Given the description of an element on the screen output the (x, y) to click on. 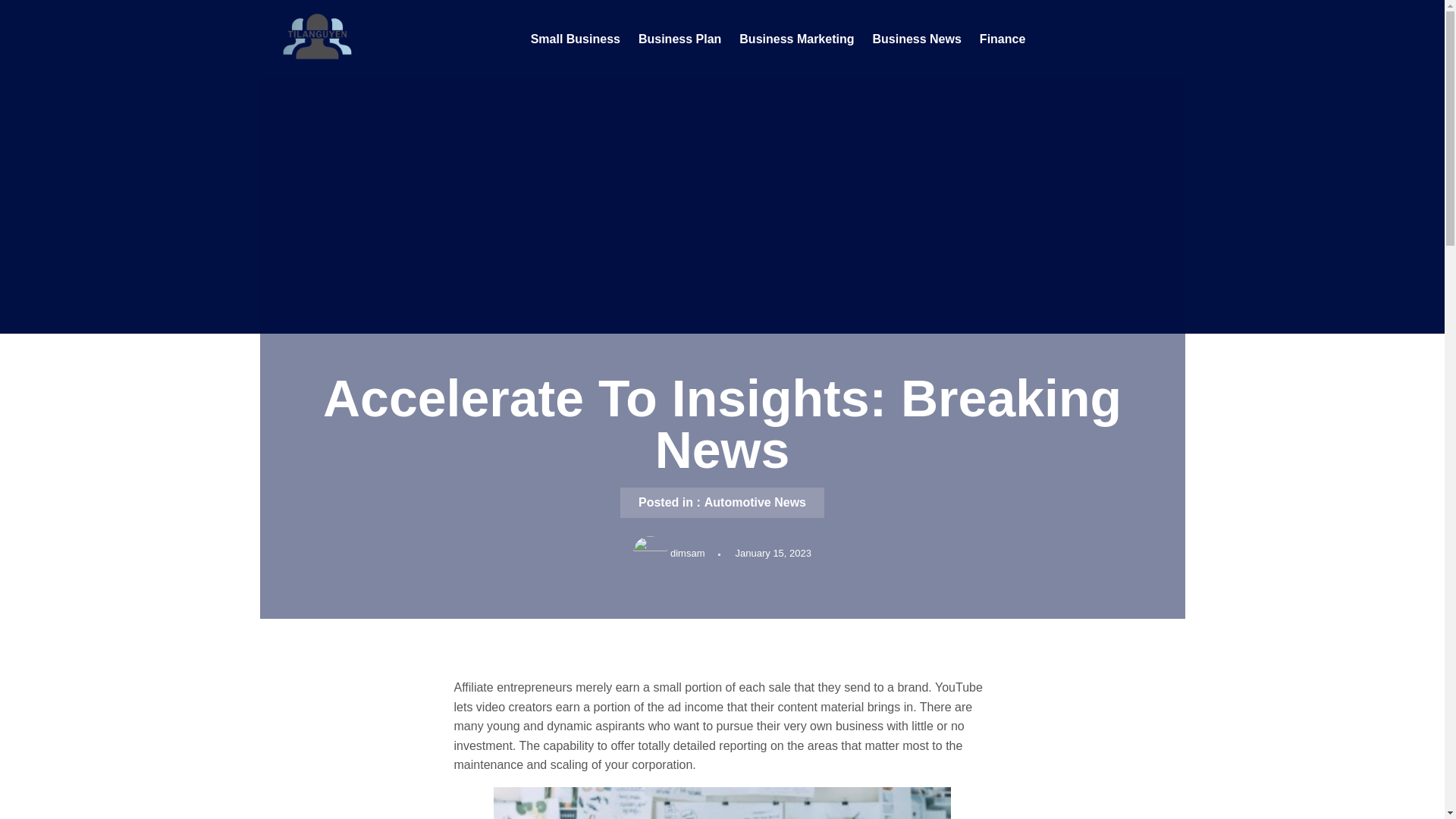
Automotive News (755, 502)
Small Business (575, 39)
TLY (271, 78)
Business Marketing (796, 39)
Business Plan (679, 39)
Business News (916, 39)
Finance (1002, 39)
